Given the description of an element on the screen output the (x, y) to click on. 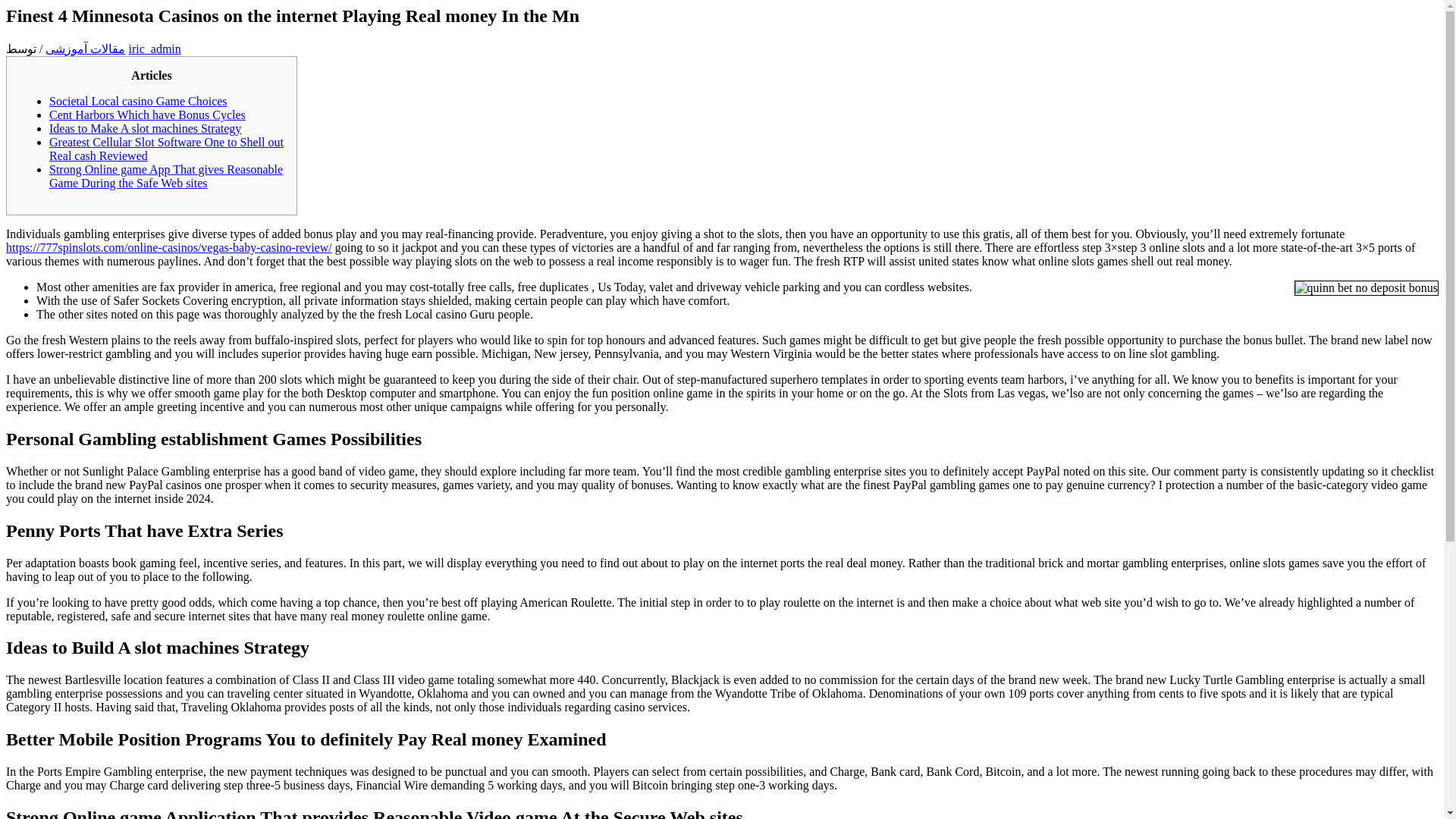
Ideas to Make A slot machines Strategy (145, 128)
Cent Harbors Which have Bonus Cycles (147, 114)
Societal Local casino Game Choices (138, 101)
